Given the description of an element on the screen output the (x, y) to click on. 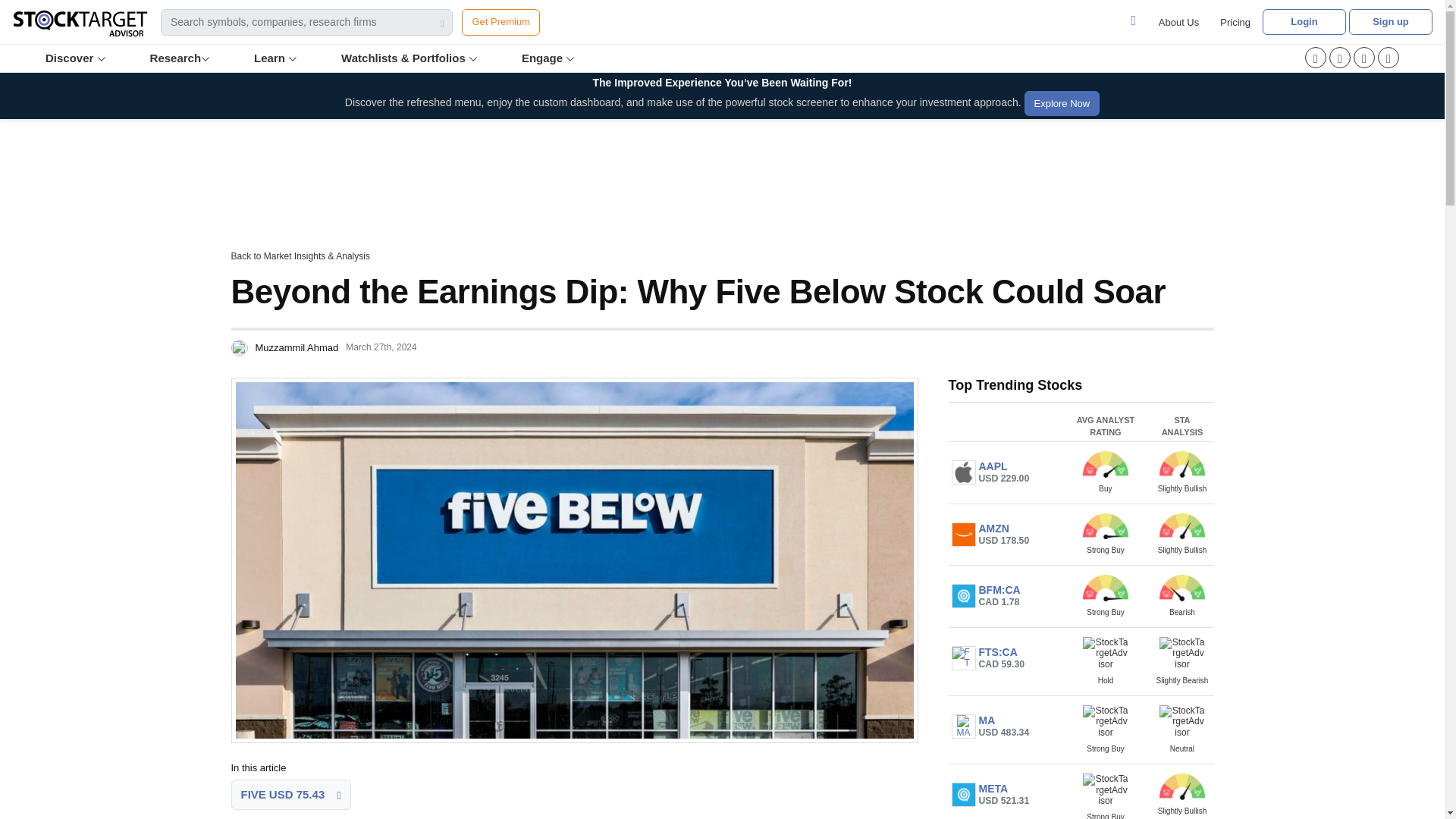
AMZN (963, 534)
StockTargetAdvisor (1105, 464)
Research (181, 58)
StockTargetAdvisor (1181, 653)
Type name or symbol of a security to search (306, 22)
StockTargetAdvisor (1105, 653)
Pricing (1235, 22)
Get Premium (500, 22)
BFM:CA (963, 595)
Login (1303, 22)
